Given the description of an element on the screen output the (x, y) to click on. 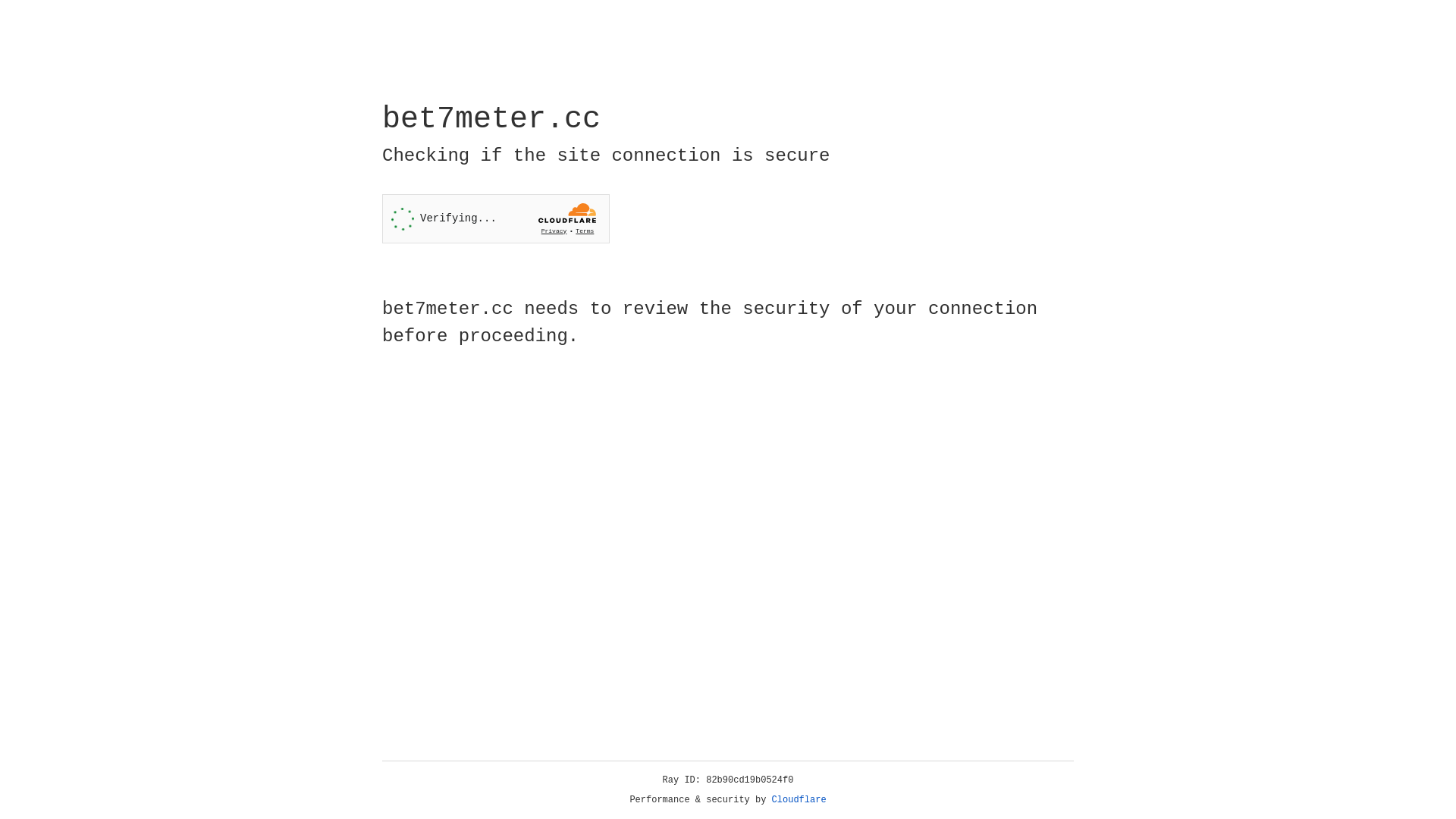
Widget containing a Cloudflare security challenge Element type: hover (495, 218)
Cloudflare Element type: text (798, 799)
